Given the description of an element on the screen output the (x, y) to click on. 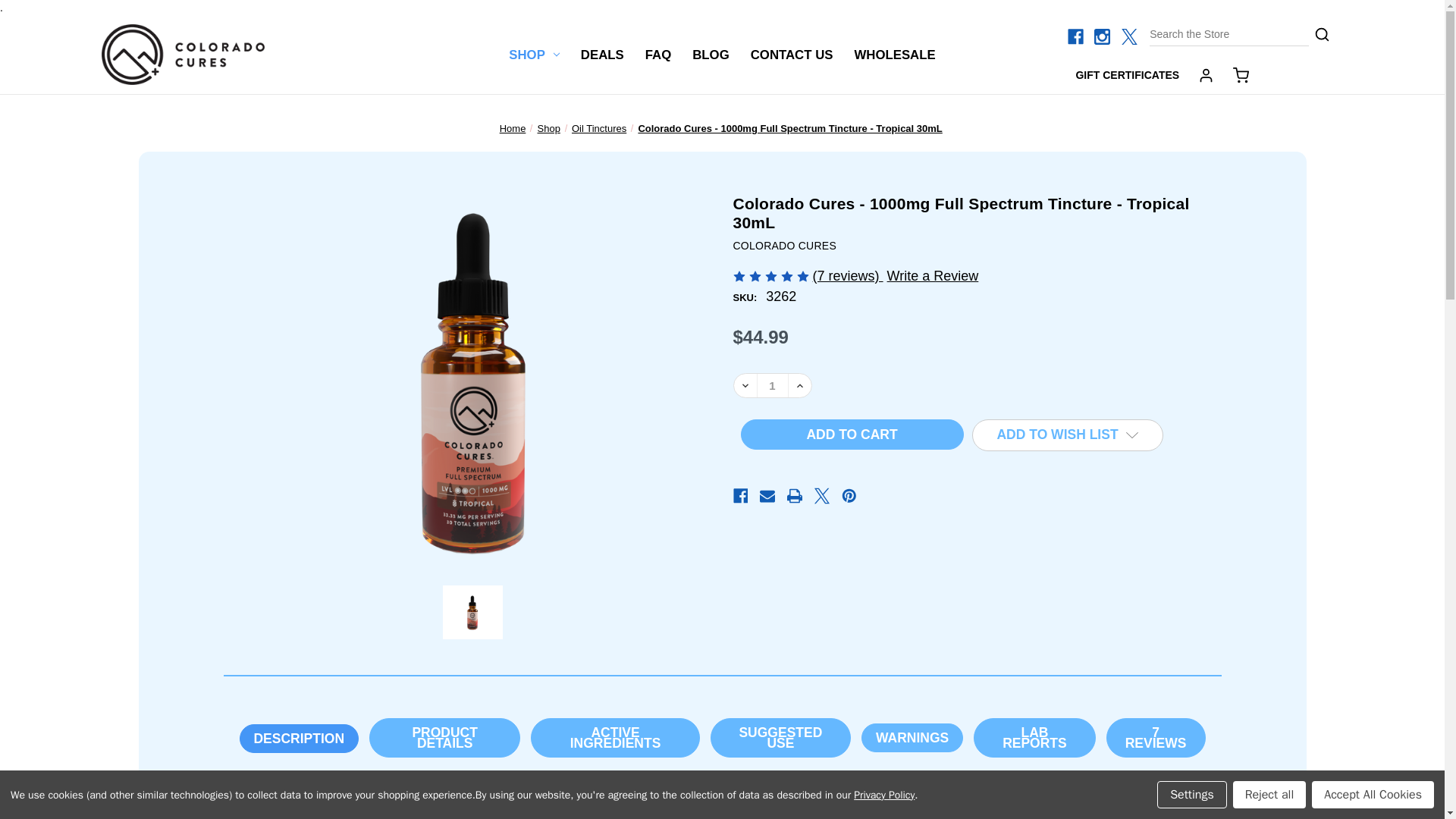
Add to Cart (850, 434)
Instagram (1101, 36)
SHOP (533, 54)
Colorado Cures (182, 54)
1 (773, 385)
Facebook (1075, 36)
X (1129, 36)
